Given the description of an element on the screen output the (x, y) to click on. 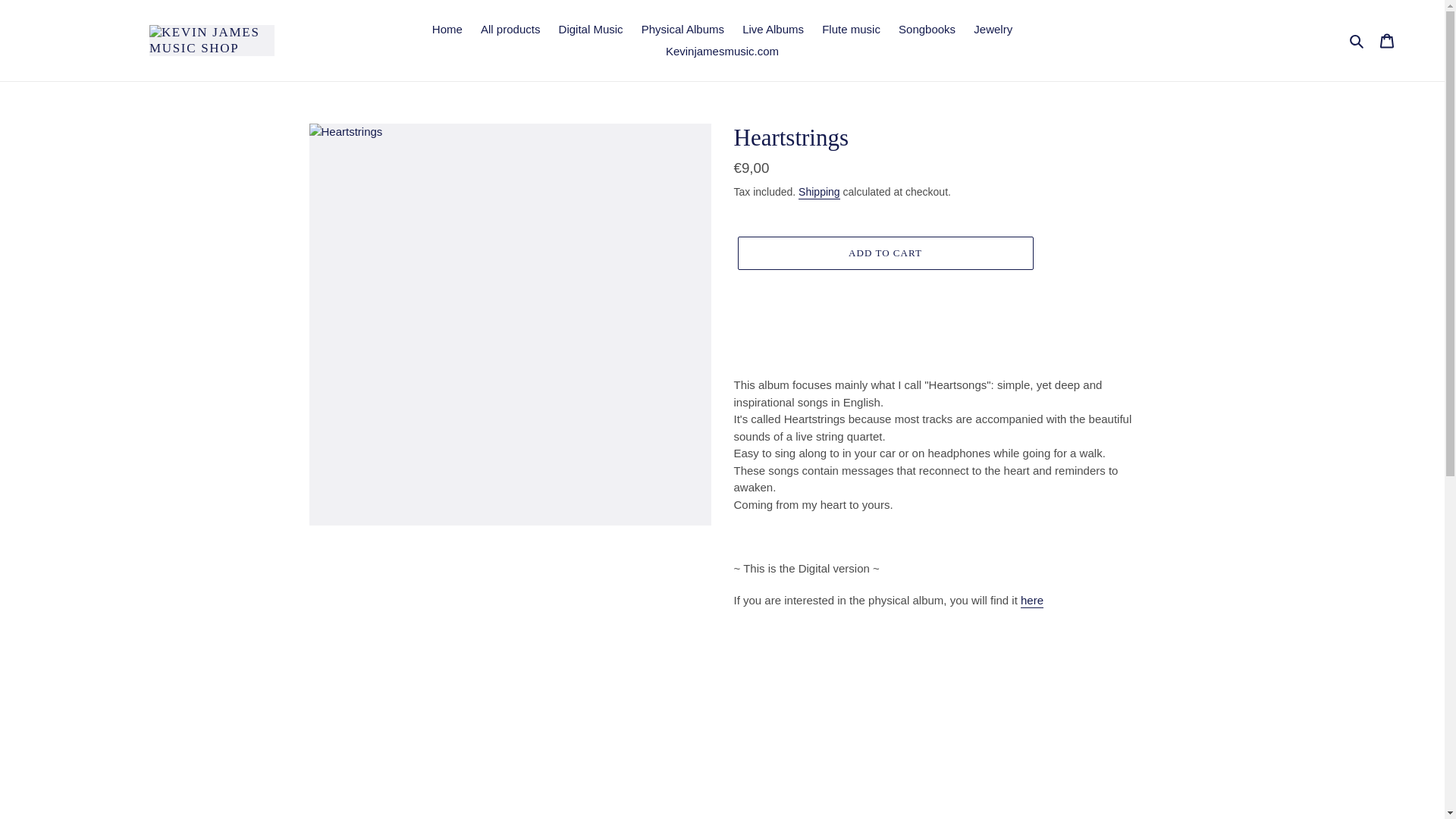
Home (447, 29)
Kevinjamesmusic.com (722, 51)
ADD TO CART (884, 253)
here (1031, 600)
Songbooks (926, 29)
Live Albums (772, 29)
Flute music (850, 29)
Physical Albums (682, 29)
Search (1357, 40)
Cart (1387, 40)
Digital Music (590, 29)
Shipping (818, 192)
Jewelry (993, 29)
All products (510, 29)
